Given the description of an element on the screen output the (x, y) to click on. 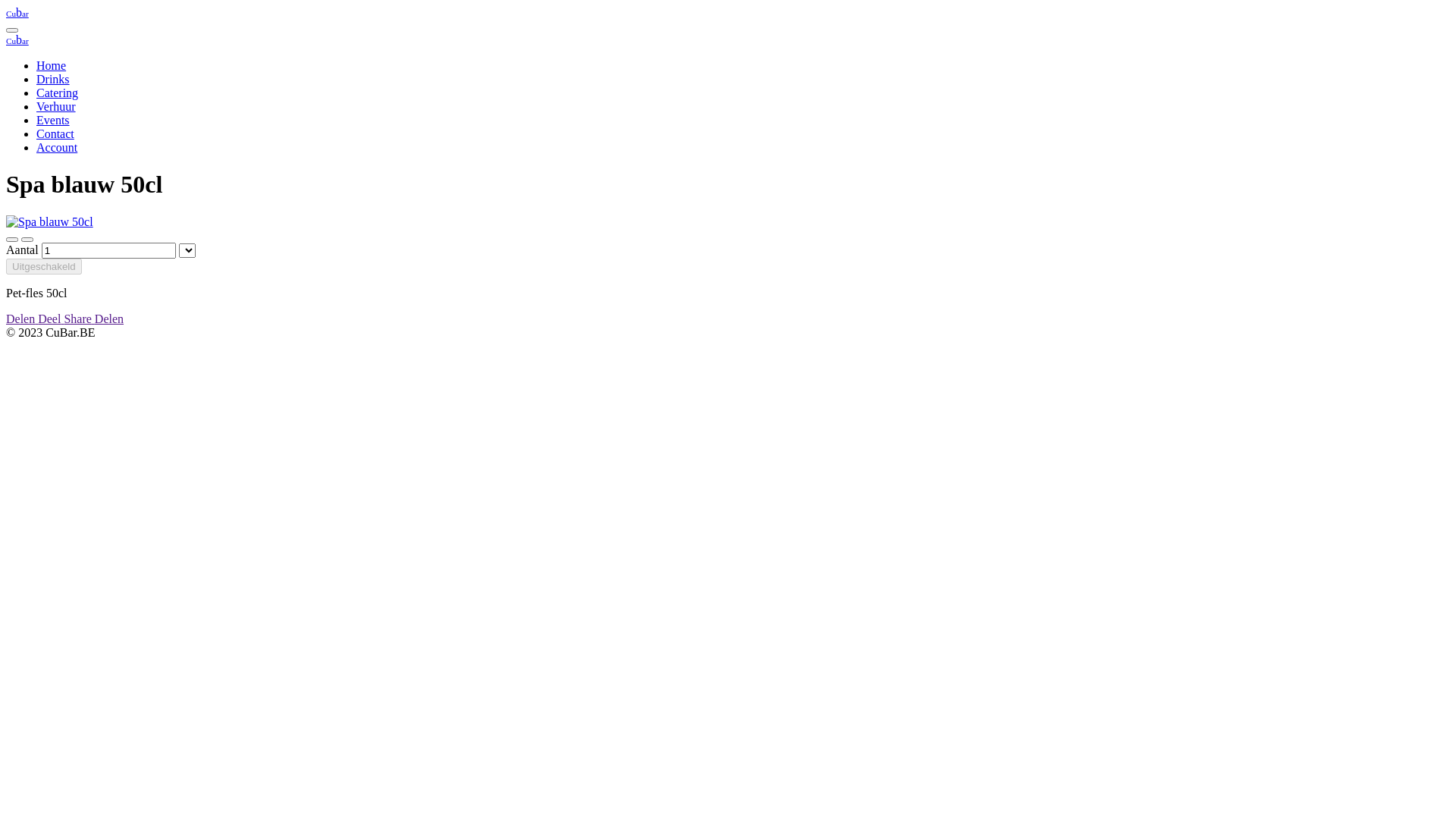
Cubar Element type: text (17, 39)
Drinks Element type: text (52, 78)
Contact Element type: text (55, 133)
Verhuur Element type: text (55, 106)
Delen Element type: text (21, 318)
Catering Element type: text (57, 92)
Share Element type: text (78, 318)
Delen Element type: text (108, 318)
Events Element type: text (52, 119)
Deel Element type: text (50, 318)
Account Element type: text (56, 147)
Cubar Element type: text (17, 12)
Uitgeschakeld Element type: text (43, 266)
Home Element type: text (50, 65)
